Given the description of an element on the screen output the (x, y) to click on. 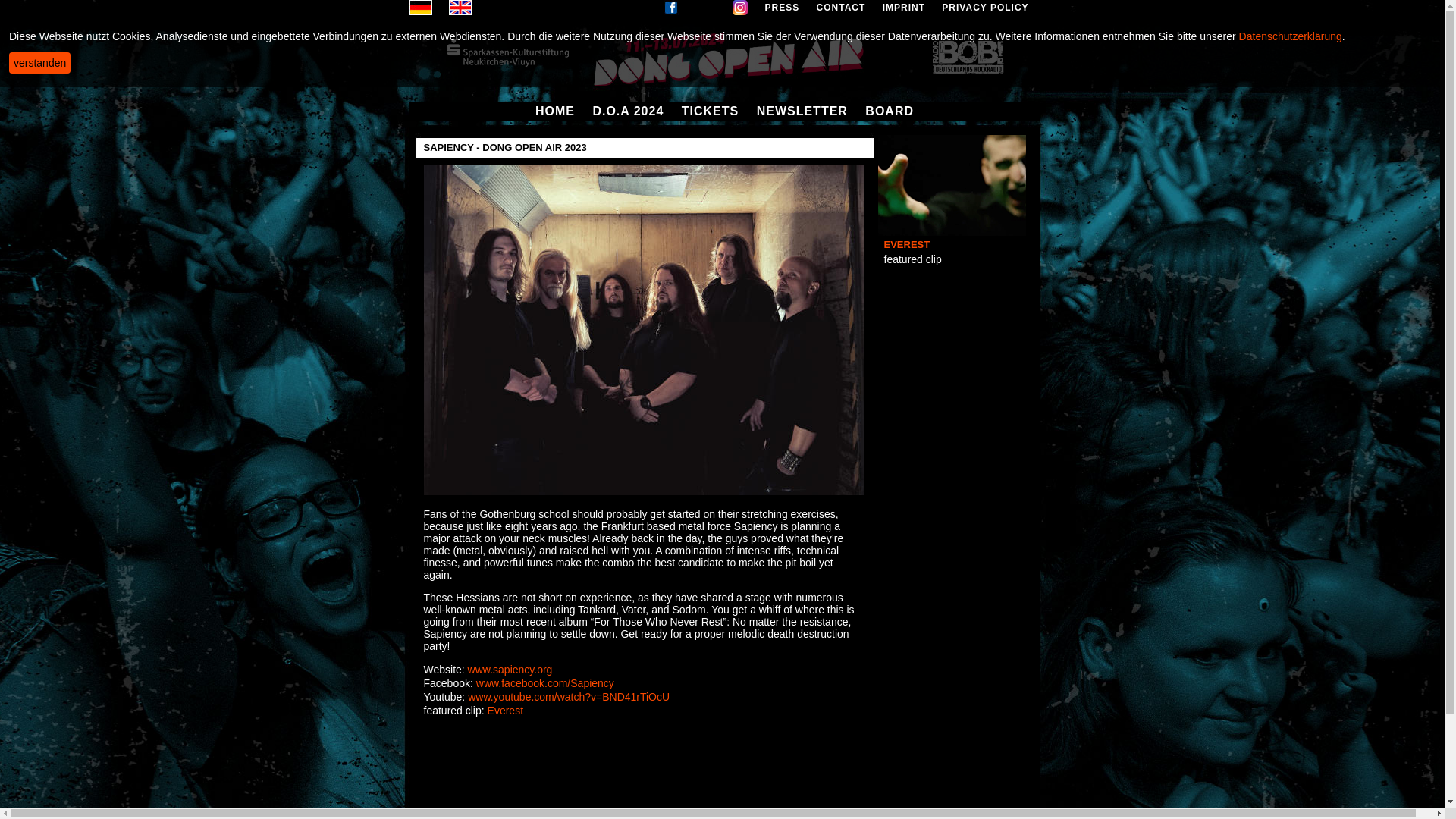
D.O.A 2024 (627, 110)
CONTACT (841, 7)
NEWSLETTER (802, 110)
HOME (555, 110)
PRIVACY POLICY (984, 7)
BOARD (889, 110)
TICKETS (709, 110)
IMPRINT (903, 7)
PRESS (782, 7)
